Given the description of an element on the screen output the (x, y) to click on. 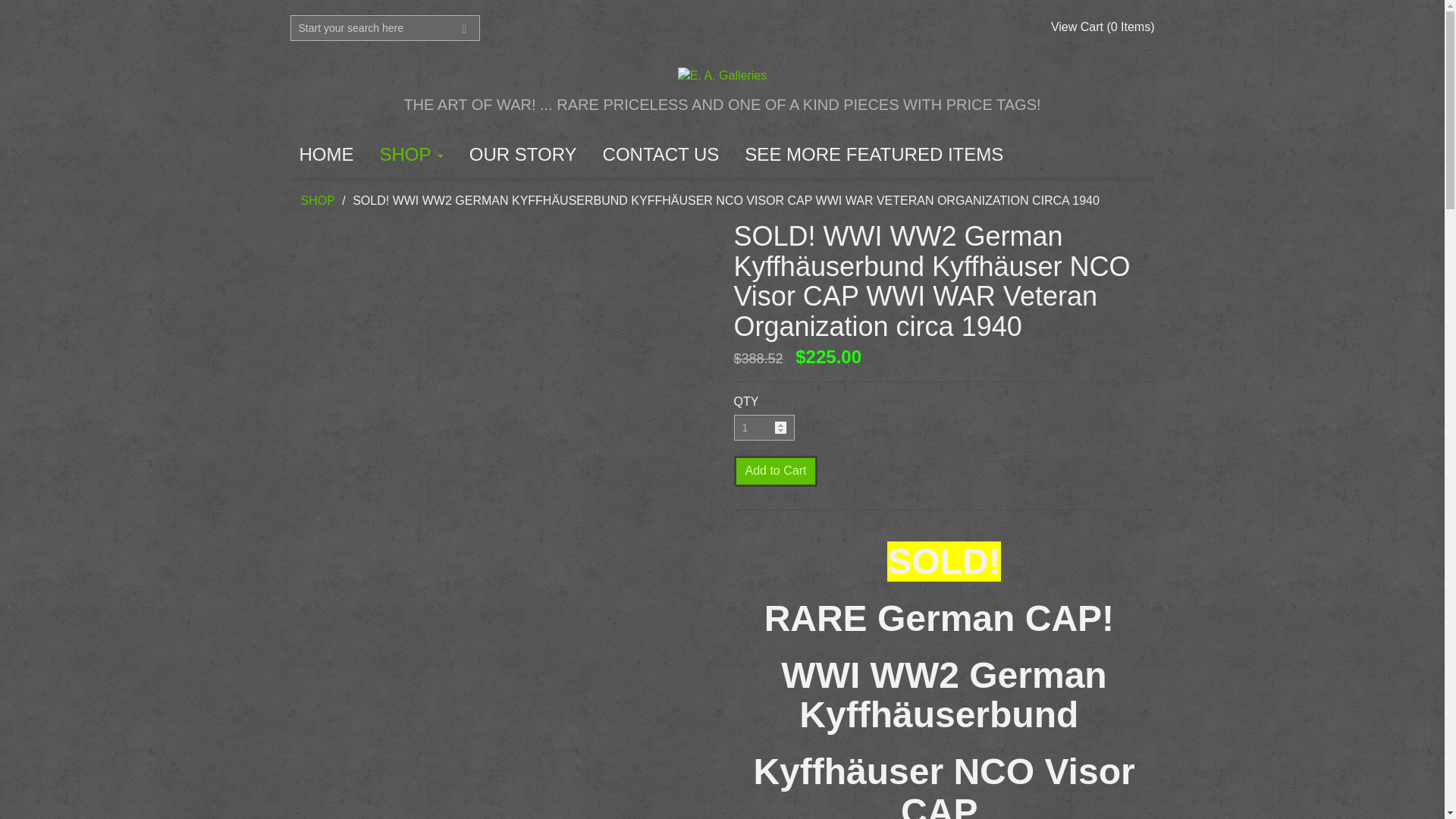
Add to Cart (775, 470)
HOME (325, 154)
SHOP (410, 154)
1 (763, 427)
OUR STORY (523, 154)
SHOP (316, 200)
Add to Cart (775, 470)
CONTACT US (661, 154)
SEE MORE FEATURED ITEMS (873, 154)
